Given the description of an element on the screen output the (x, y) to click on. 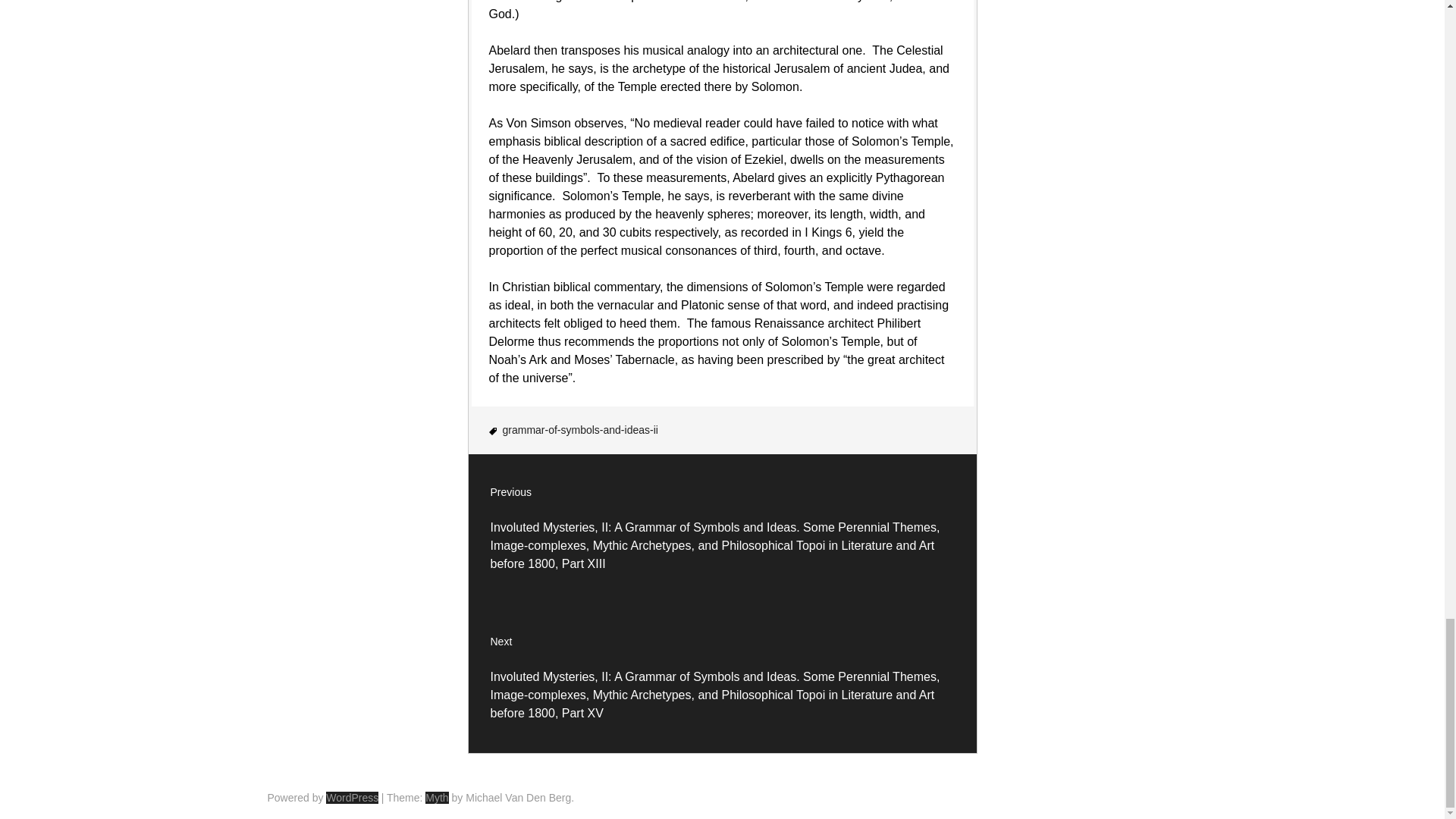
grammar-of-symbols-and-ideas-ii (580, 429)
